Given the description of an element on the screen output the (x, y) to click on. 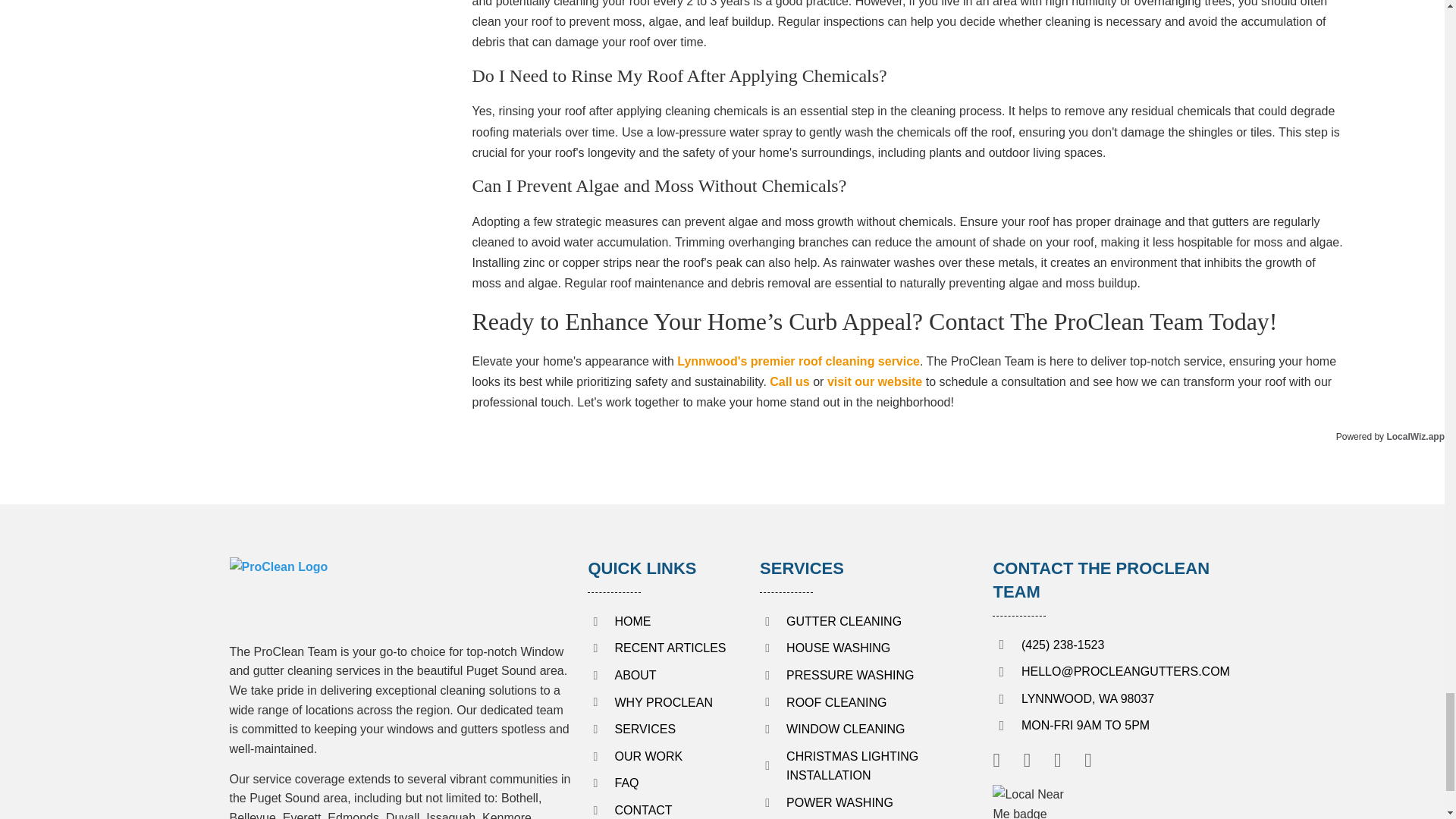
Lynnwood's premier roof cleaning service (798, 360)
ProClean Logo - The ProClean Team (349, 592)
visit our website (874, 381)
Call us (789, 381)
Local Near Me badge - The ProClean Team (1033, 801)
